Given the description of an element on the screen output the (x, y) to click on. 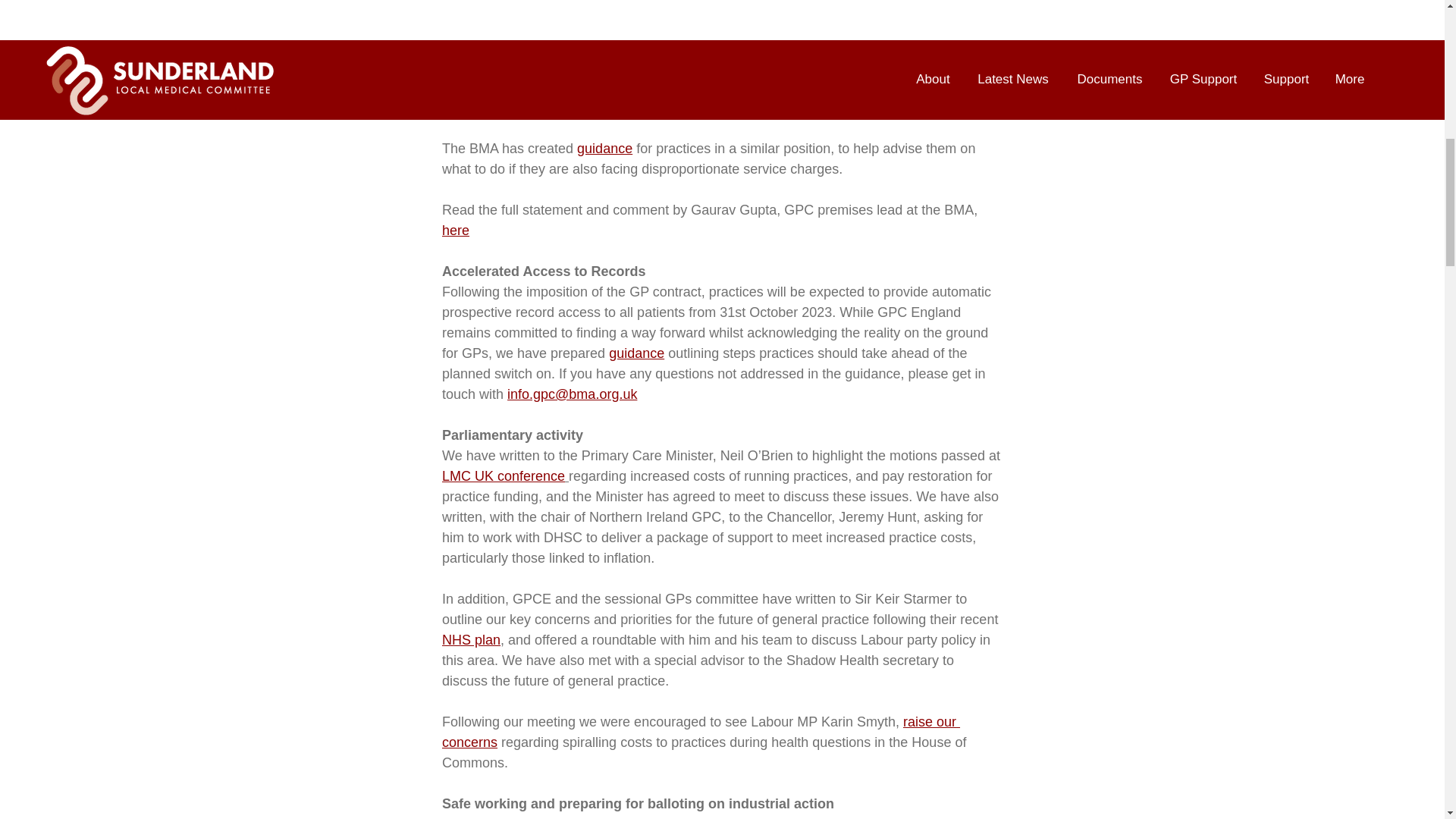
LMC UK conference (502, 476)
guidance (603, 148)
raise our concerns (700, 732)
guidance (635, 353)
NHS plan (470, 639)
here (454, 230)
